Given the description of an element on the screen output the (x, y) to click on. 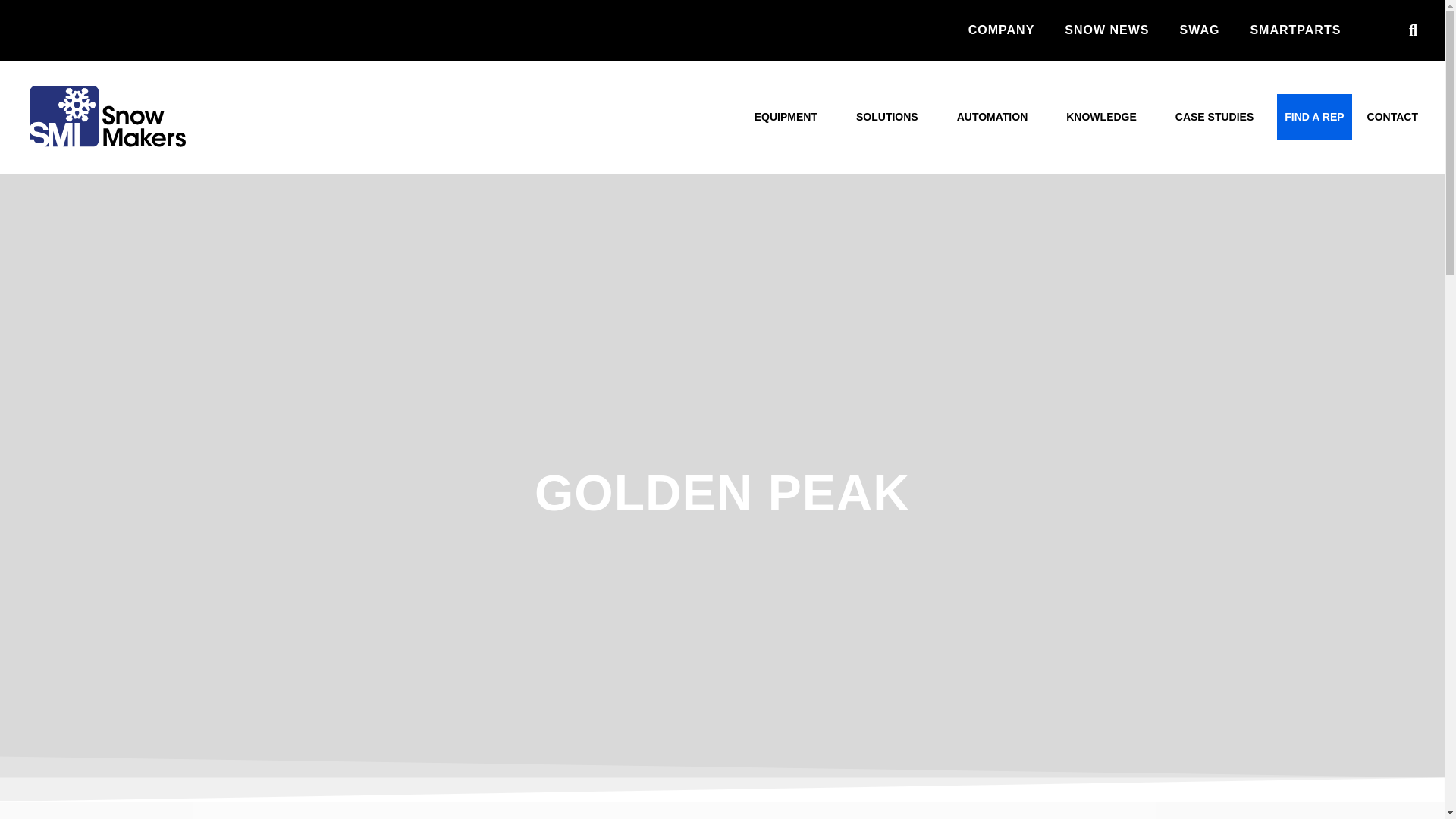
SNOW NEWS (1106, 30)
EQUIPMENT (790, 116)
COMPANY (1001, 30)
SMARTPARTS (1294, 30)
SOLUTIONS (891, 116)
SWAG (1199, 30)
